Given the description of an element on the screen output the (x, y) to click on. 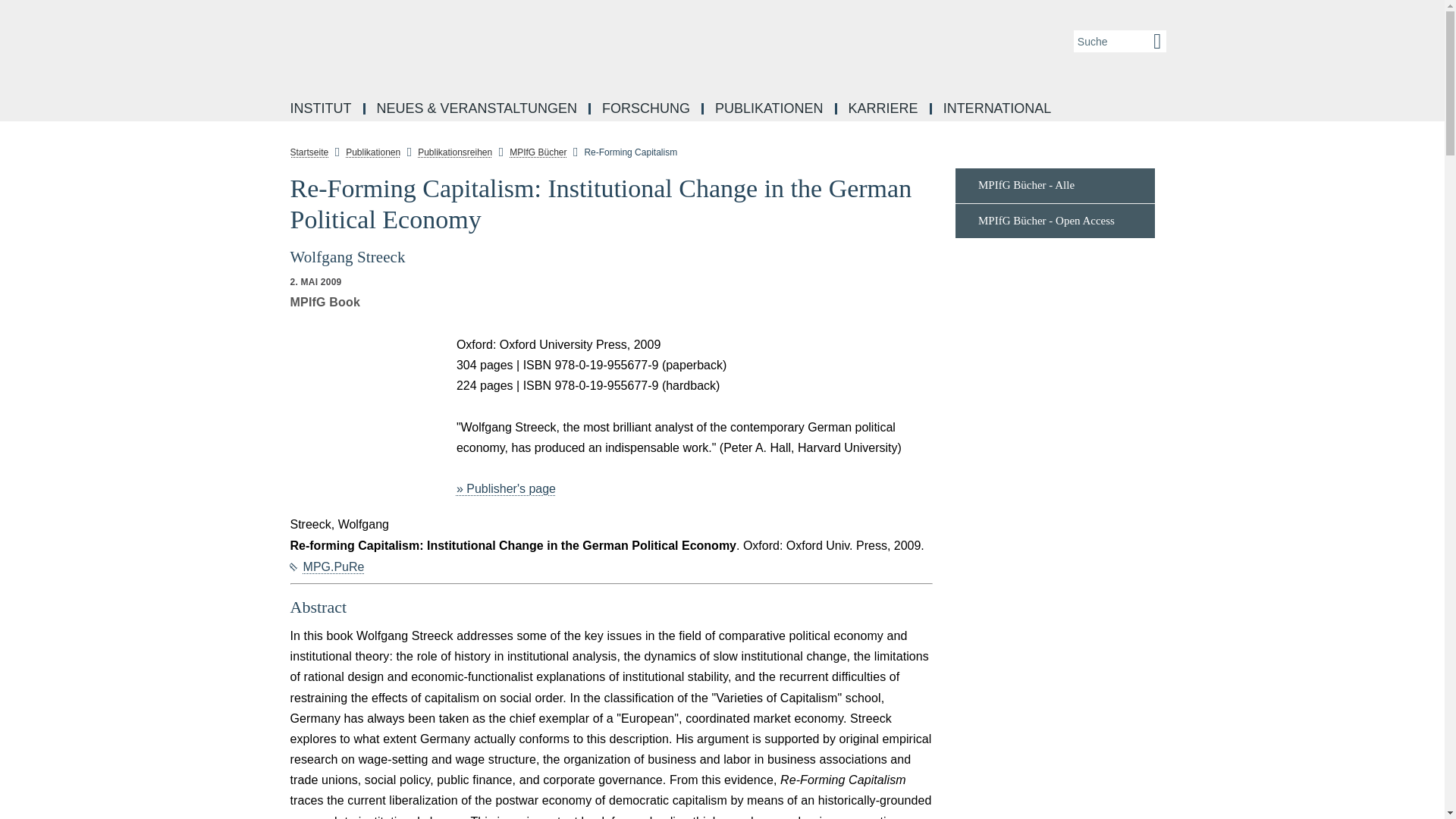
E-Mail (258, 354)
FORSCHUNG (647, 108)
Reddit (258, 252)
Facebook (258, 184)
INSTITUT (322, 108)
Twitter (258, 287)
Print (258, 389)
LinkedIn (258, 219)
Xing (258, 321)
